Given the description of an element on the screen output the (x, y) to click on. 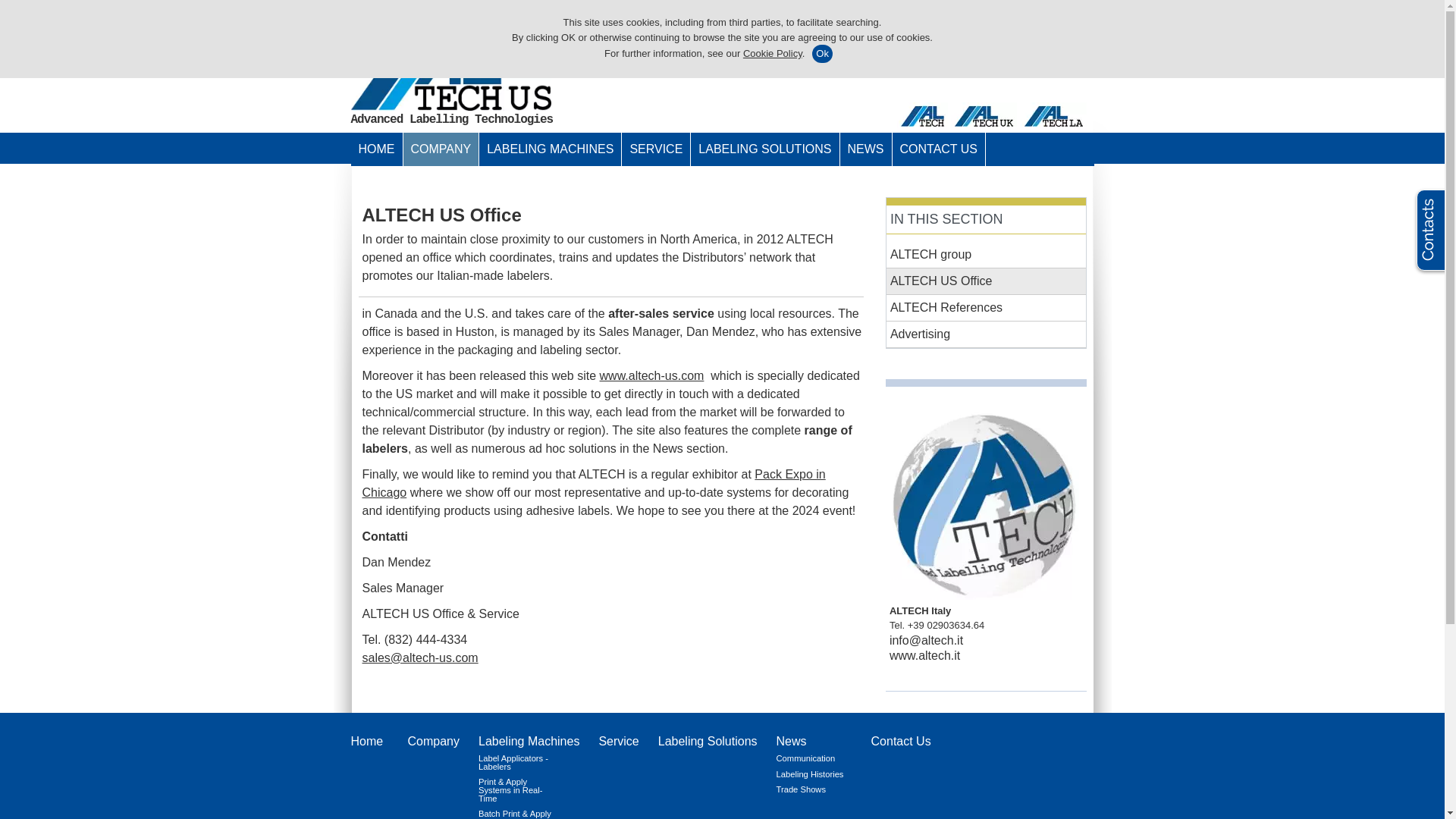
www.altech-us.com (651, 375)
ALTECH group (985, 254)
NEWS (865, 149)
COMPANY (441, 149)
LABELING SOLUTIONS (764, 149)
Pack Expo in Chicago (593, 482)
Esegui ricerca (1085, 17)
CONTACT US (938, 149)
HOME (375, 149)
SERVICE (655, 149)
